Given the description of an element on the screen output the (x, y) to click on. 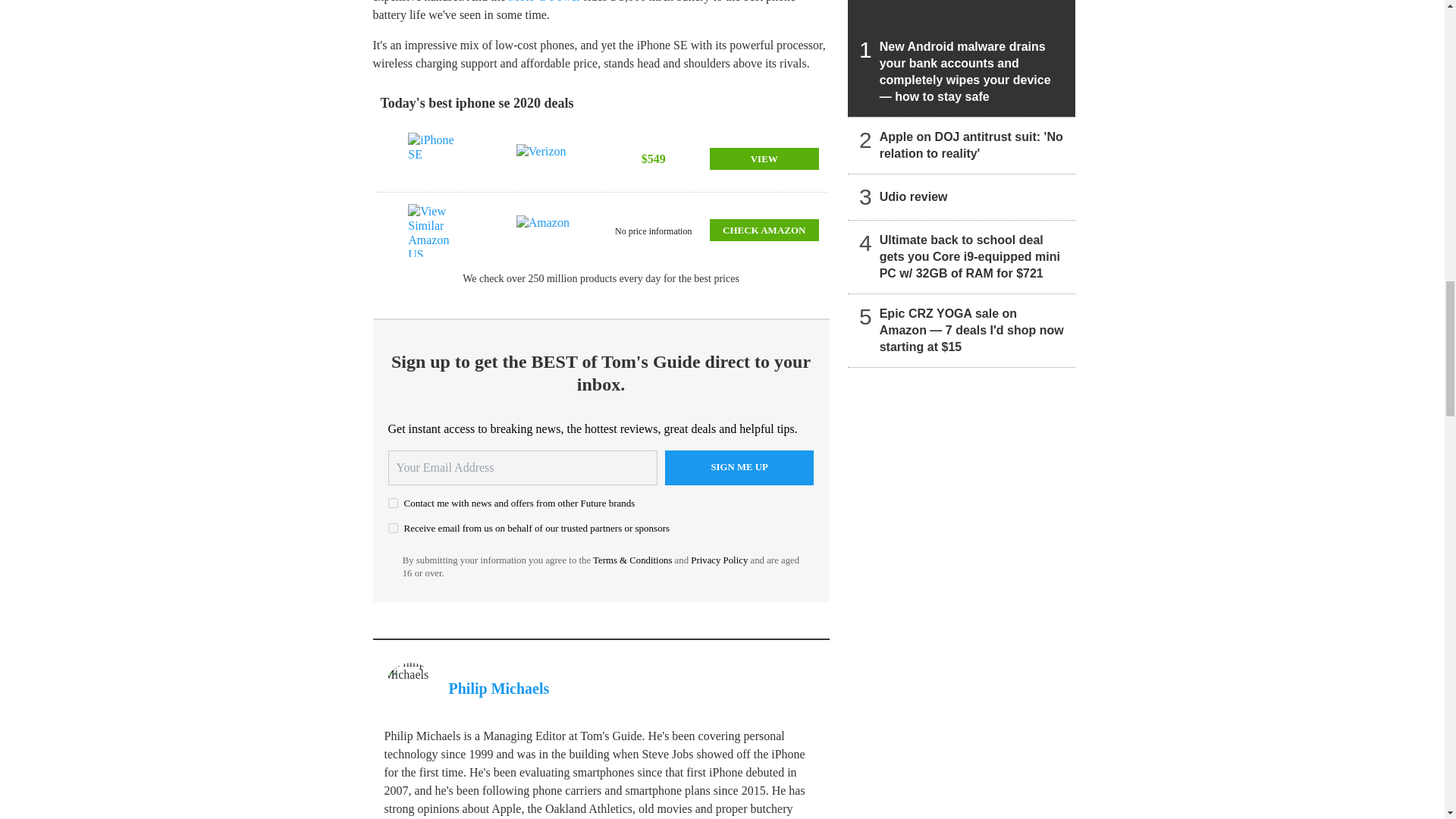
Verizon (546, 159)
View Similar Amazon US (437, 230)
on (392, 528)
on (392, 502)
Sign me up (739, 467)
Amazon (546, 230)
iPhone SE (437, 158)
